Given the description of an element on the screen output the (x, y) to click on. 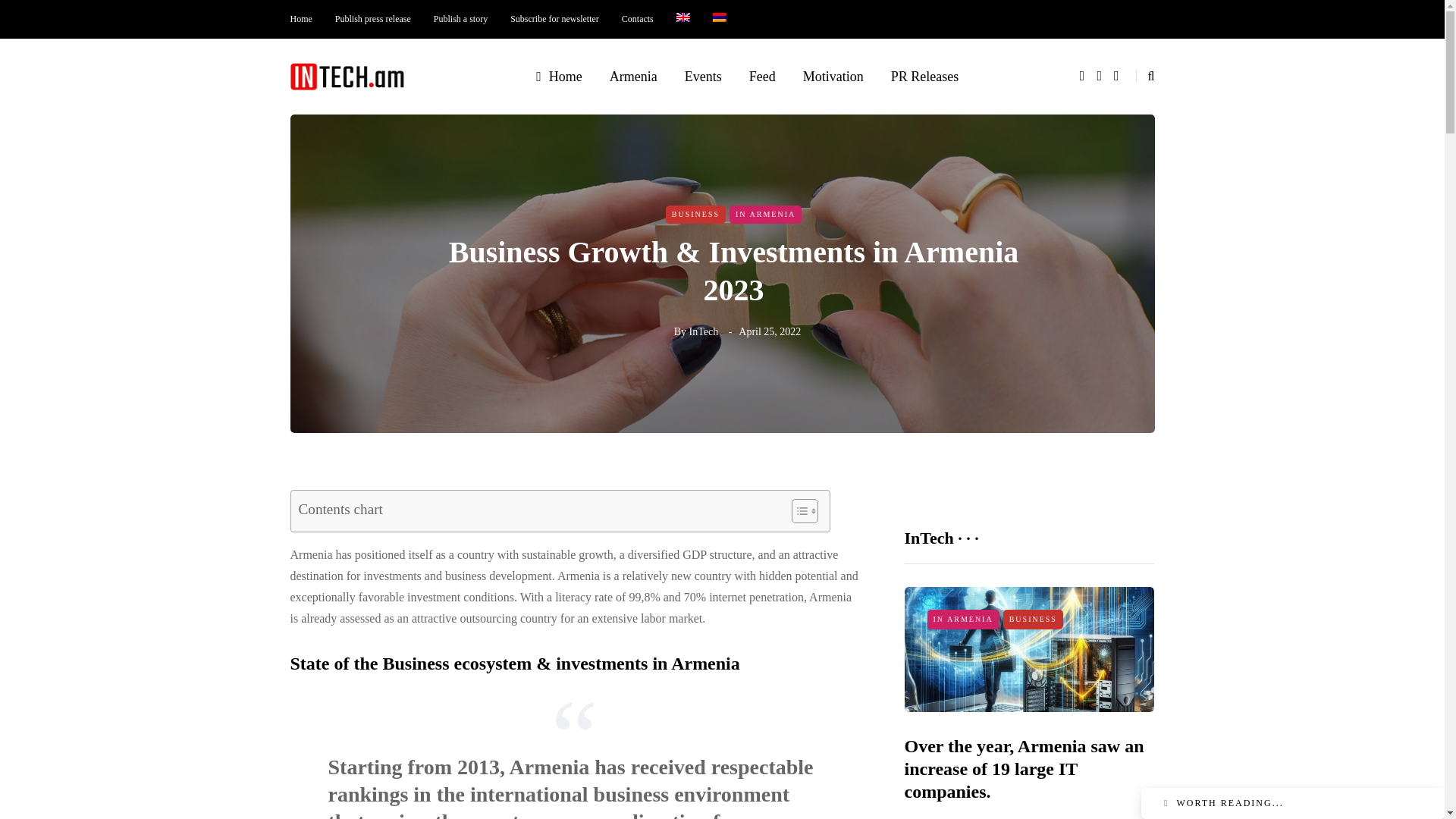
Posts by InTech (702, 331)
Contacts (637, 19)
Feed (762, 76)
Subscribe for newsletter (554, 19)
Armenia (633, 76)
Publish a story (460, 19)
PR Releases (924, 76)
Publish press release (372, 19)
Home (558, 76)
Events (703, 76)
Motivation (833, 76)
Search (43, 15)
